Given the description of an element on the screen output the (x, y) to click on. 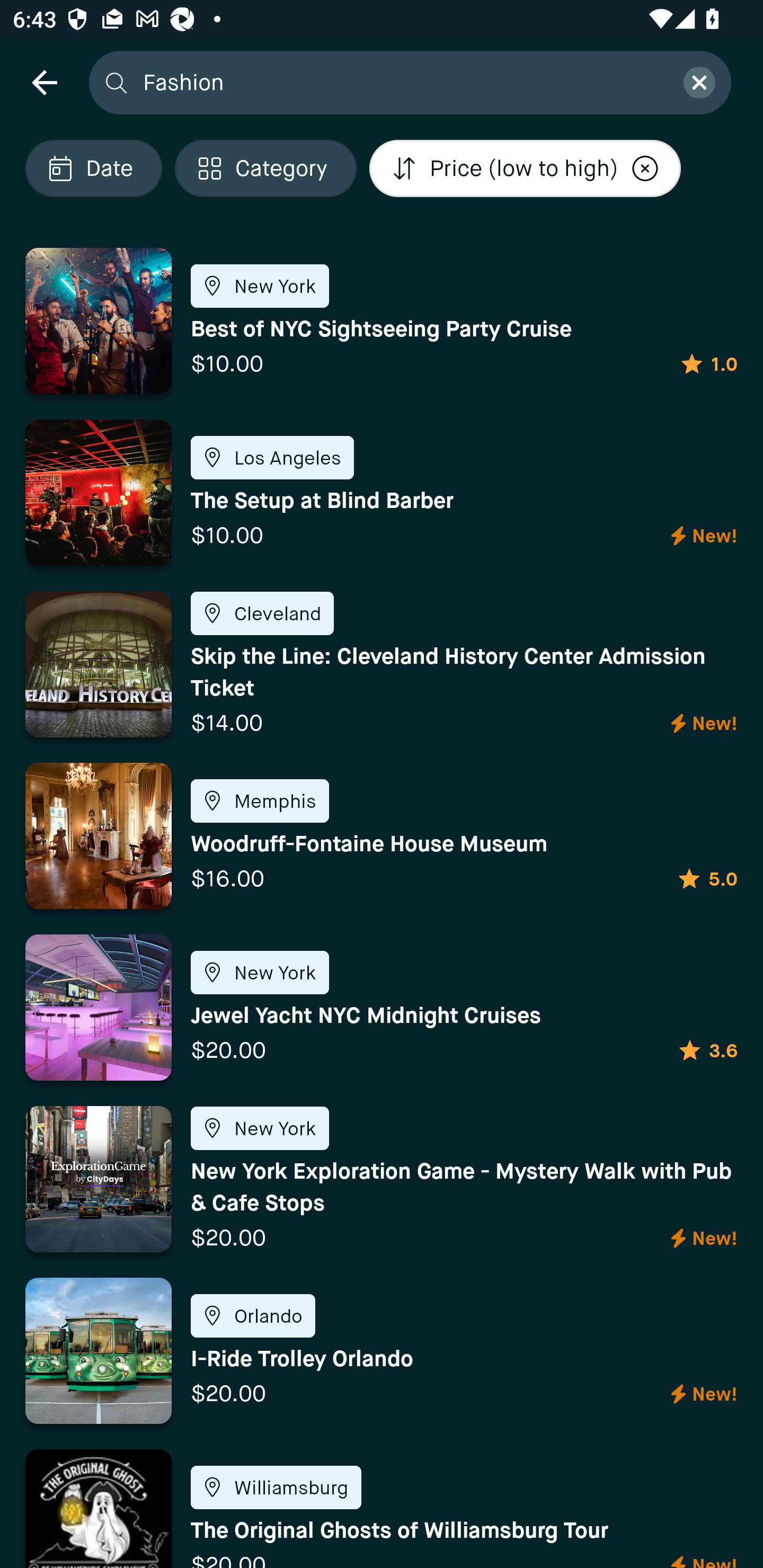
navigation icon (44, 81)
Fashion (402, 81)
Localized description Date (93, 168)
Localized description Category (265, 168)
Localized description (645, 168)
